Given the description of an element on the screen output the (x, y) to click on. 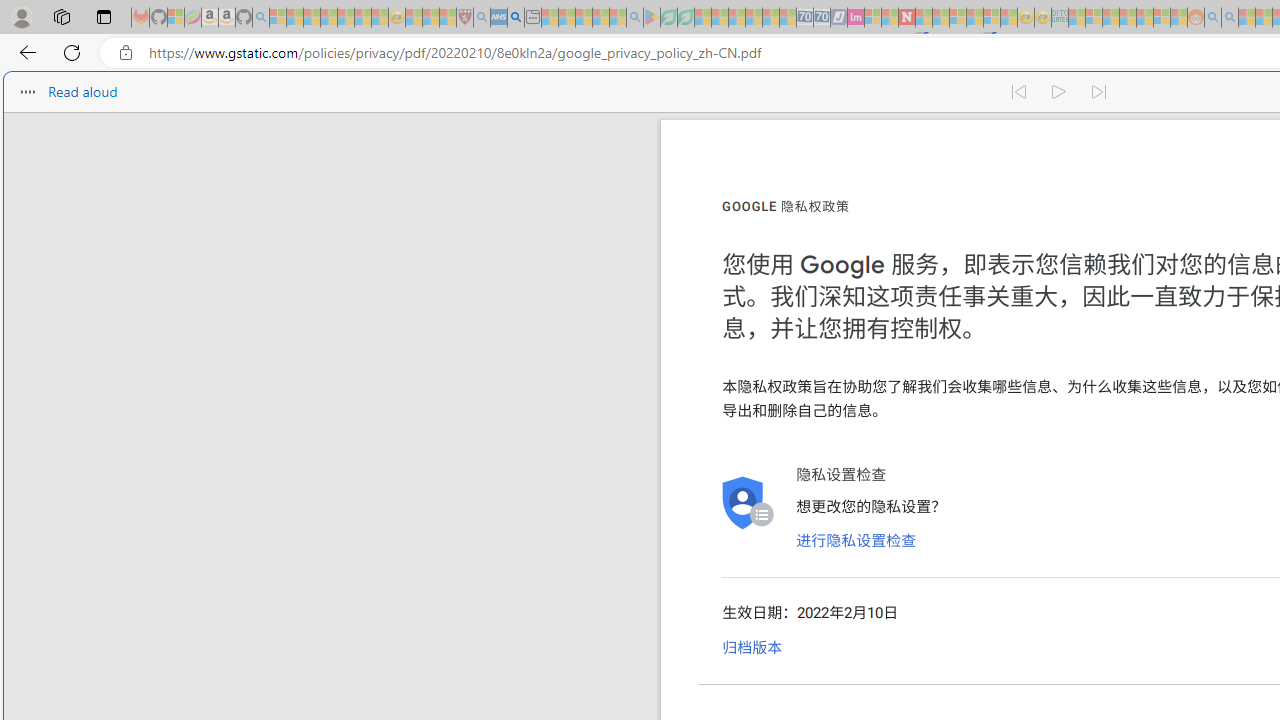
Bluey: Let's Play! - Apps on Google Play - Sleeping (651, 17)
Read previous paragraph (1018, 92)
Continue to read aloud (Ctrl+Shift+U) (1059, 92)
